Given the description of an element on the screen output the (x, y) to click on. 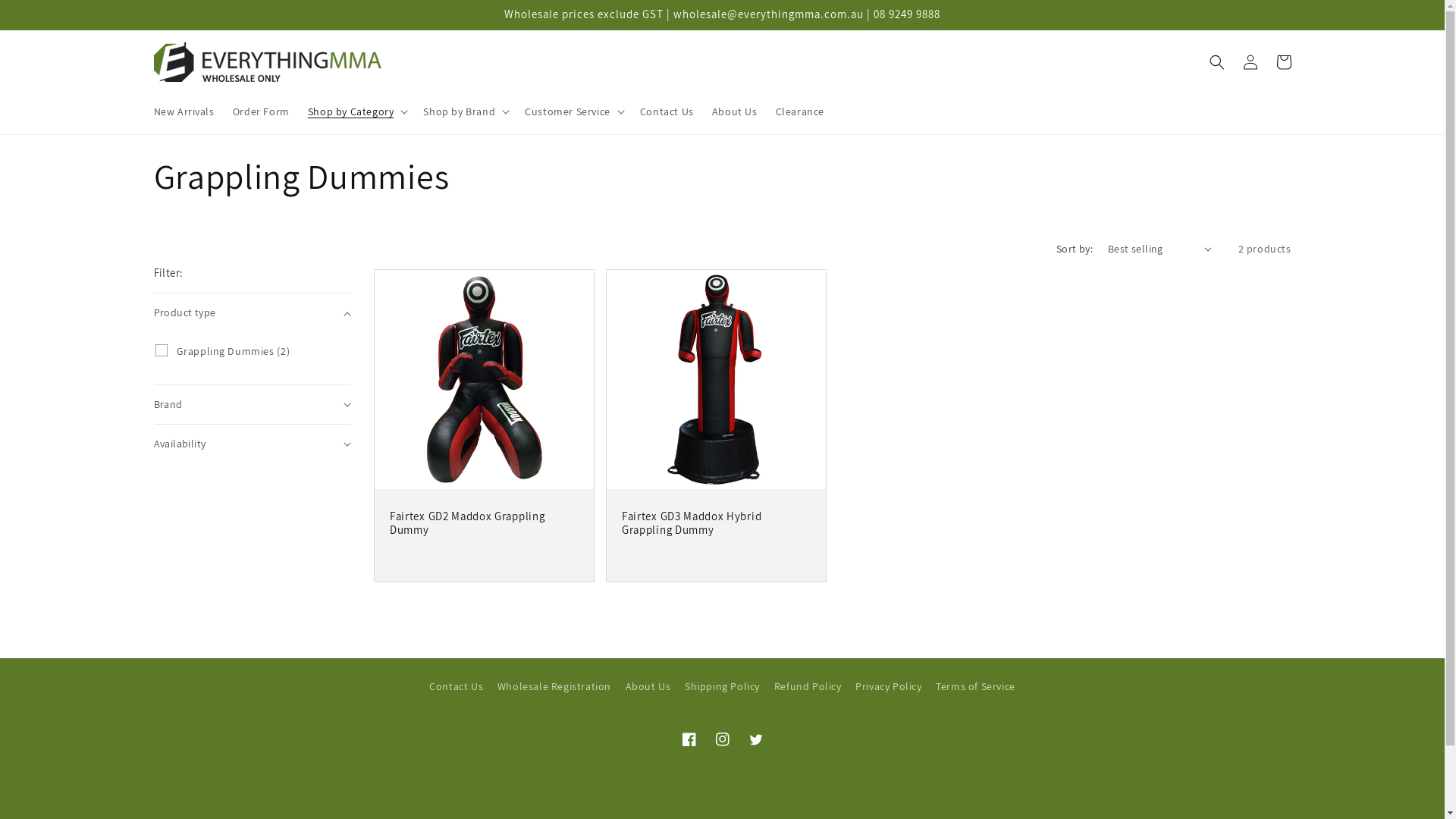
Fairtex GD3 Maddox Hybrid Grappling Dummy Element type: text (715, 522)
Contact Us Element type: text (456, 688)
Order Form Element type: text (260, 111)
Fairtex GD2 Maddox Grappling Dummy Element type: text (483, 522)
About Us Element type: text (648, 686)
New Arrivals Element type: text (183, 111)
Twitter Element type: text (754, 739)
Refund Policy Element type: text (807, 686)
Contact Us Element type: text (666, 111)
Terms of Service Element type: text (975, 686)
Privacy Policy Element type: text (888, 686)
Shipping Policy Element type: text (721, 686)
Wholesale Registration Element type: text (554, 686)
About Us Element type: text (734, 111)
Instagram Element type: text (721, 739)
Log in Element type: text (1249, 61)
Cart Element type: text (1282, 61)
Facebook Element type: text (688, 739)
Clearance Element type: text (799, 111)
